Given the description of an element on the screen output the (x, y) to click on. 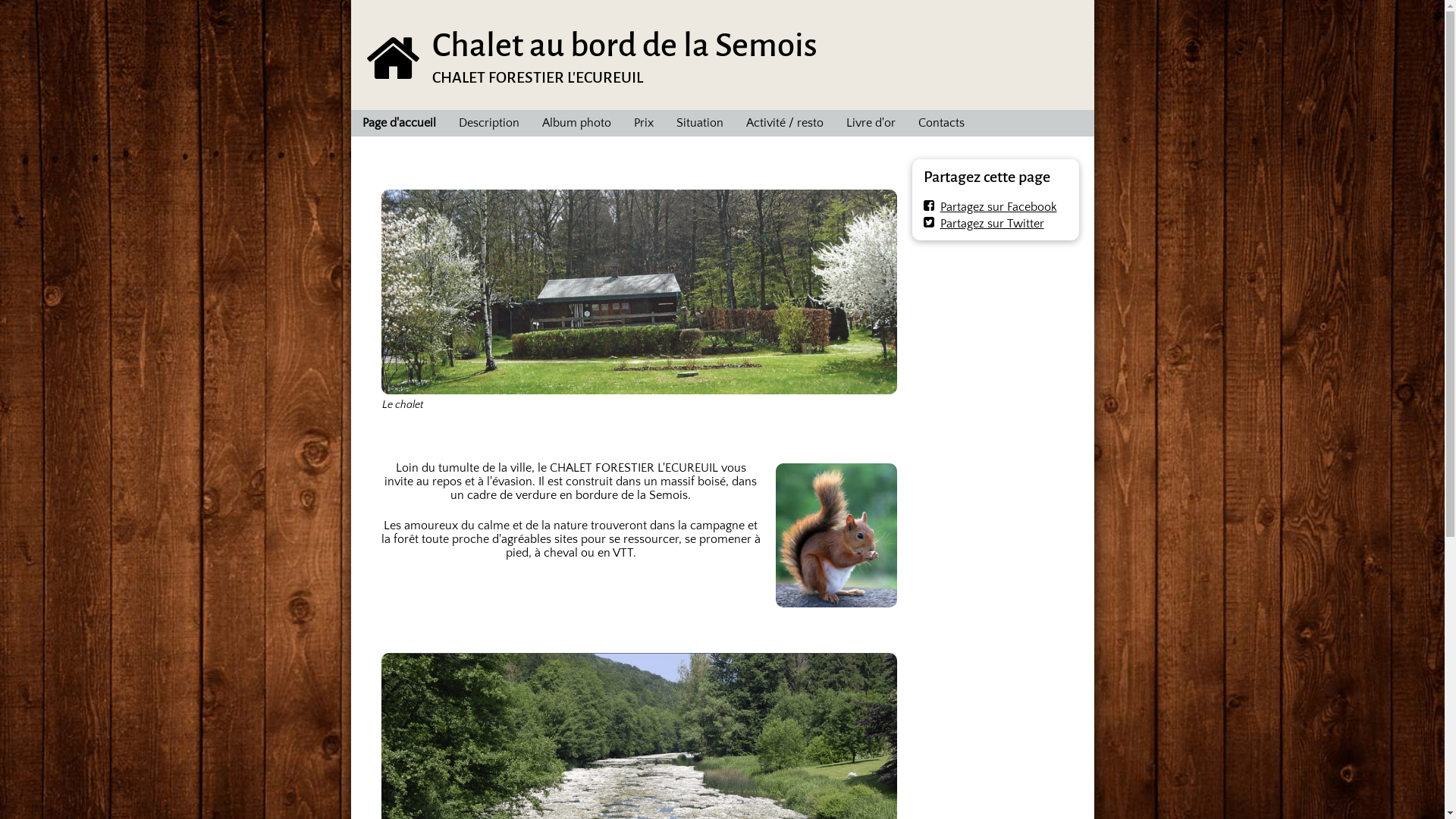
Partagez sur Facebook Element type: text (990, 206)
Contacts Element type: text (940, 122)
Livre d'or Element type: text (870, 122)
Page d'accueil Element type: text (398, 122)
Prix Element type: text (642, 122)
Chalet au bord de la Semois Element type: text (624, 44)
Partagez sur Twitter Element type: text (983, 223)
Description Element type: text (488, 122)
Situation Element type: text (699, 122)
Le chalet Element type: hover (638, 291)
Album photo Element type: text (576, 122)
